Given the description of an element on the screen output the (x, y) to click on. 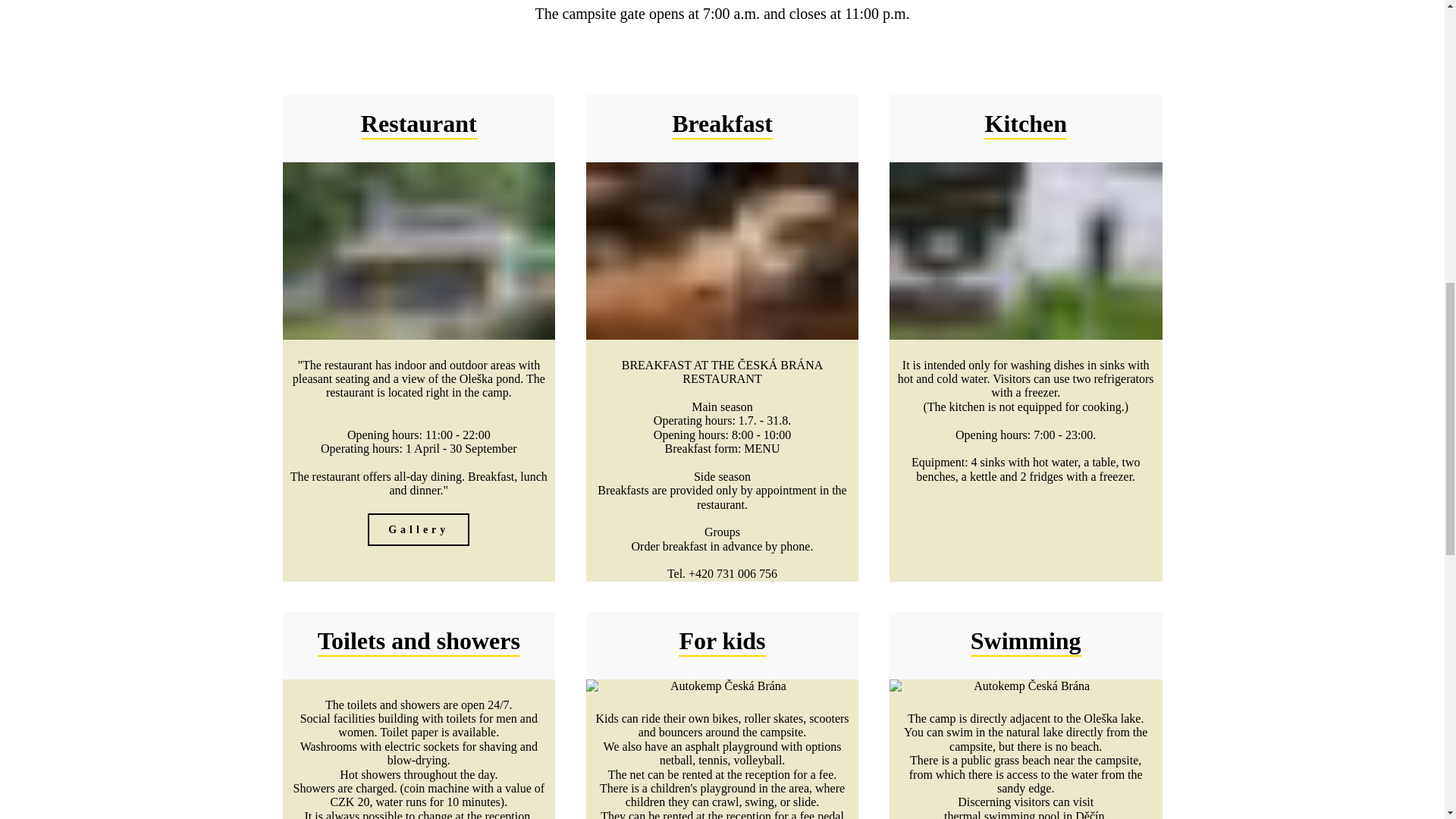
Gallery (418, 545)
